Given the description of an element on the screen output the (x, y) to click on. 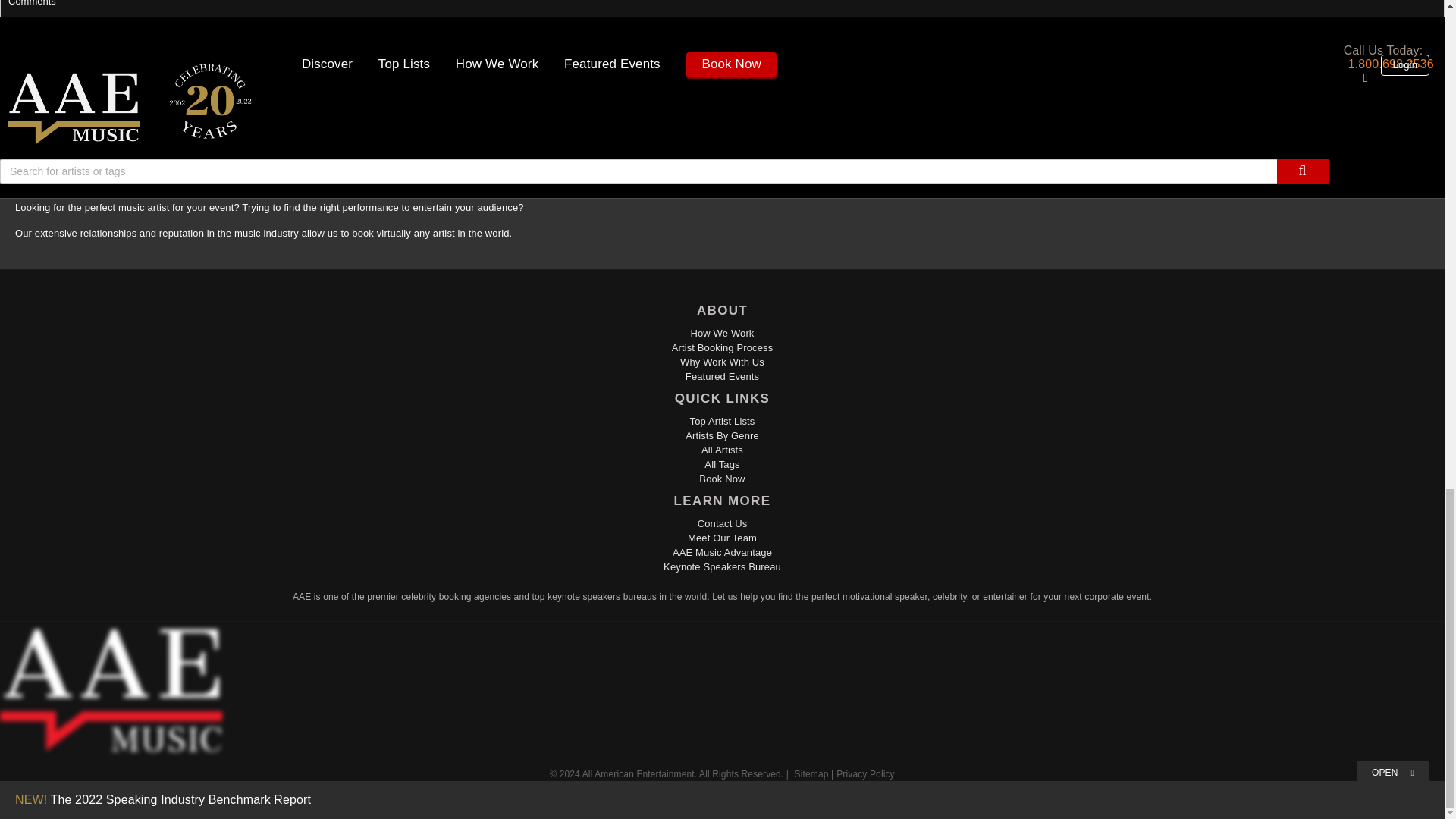
Yes (15, 99)
No (53, 99)
